Given the description of an element on the screen output the (x, y) to click on. 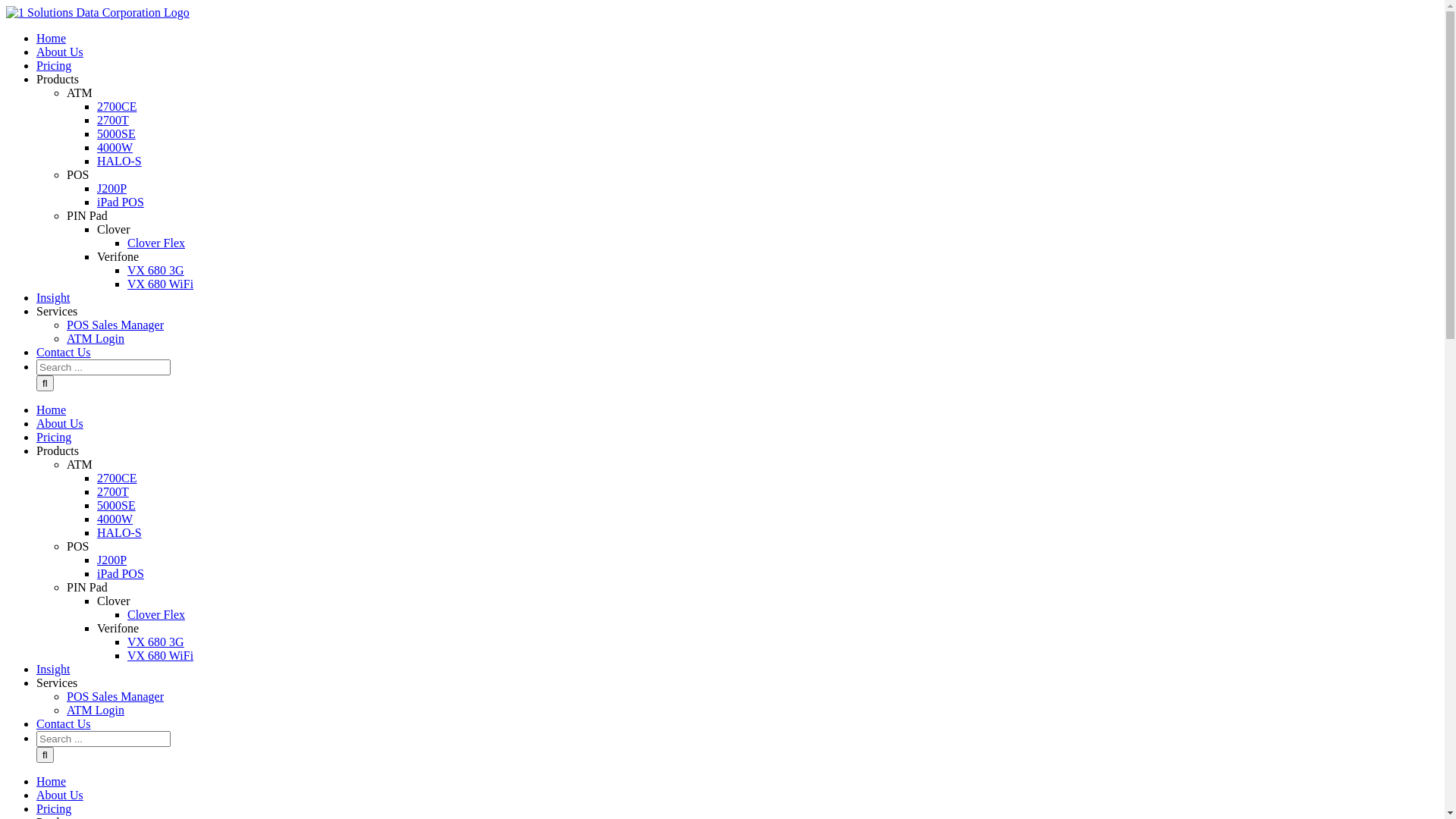
5000SE Element type: text (116, 133)
ATM Login Element type: text (95, 709)
About Us Element type: text (59, 51)
HALO-S Element type: text (119, 160)
J200P Element type: text (111, 188)
Contact Us Element type: text (63, 351)
Home Element type: text (50, 37)
2700CE Element type: text (116, 477)
J200P Element type: text (111, 559)
Clover Element type: text (113, 228)
Products Element type: text (57, 450)
VX 680 WiFi Element type: text (160, 283)
Home Element type: text (50, 781)
Pricing Element type: text (53, 65)
Clover Flex Element type: text (156, 242)
VX 680 WiFi Element type: text (160, 655)
iPad POS Element type: text (120, 573)
4000W Element type: text (114, 518)
Verifone Element type: text (117, 627)
VX 680 3G Element type: text (155, 269)
HALO-S Element type: text (119, 532)
Verifone Element type: text (117, 256)
Insight Element type: text (52, 297)
About Us Element type: text (59, 423)
5000SE Element type: text (116, 504)
iPad POS Element type: text (120, 201)
Home Element type: text (50, 409)
ATM Login Element type: text (95, 338)
VX 680 3G Element type: text (155, 641)
Products Element type: text (57, 78)
About Us Element type: text (59, 794)
2700T Element type: text (112, 491)
Pricing Element type: text (53, 436)
Services Element type: text (56, 682)
Pricing Element type: text (53, 808)
Services Element type: text (56, 310)
2700CE Element type: text (116, 106)
Insight Element type: text (52, 668)
2700T Element type: text (112, 119)
POS Sales Manager Element type: text (114, 324)
Clover Element type: text (113, 600)
Contact Us Element type: text (63, 723)
4000W Element type: text (114, 147)
POS Sales Manager Element type: text (114, 696)
Clover Flex Element type: text (156, 614)
